Given the description of an element on the screen output the (x, y) to click on. 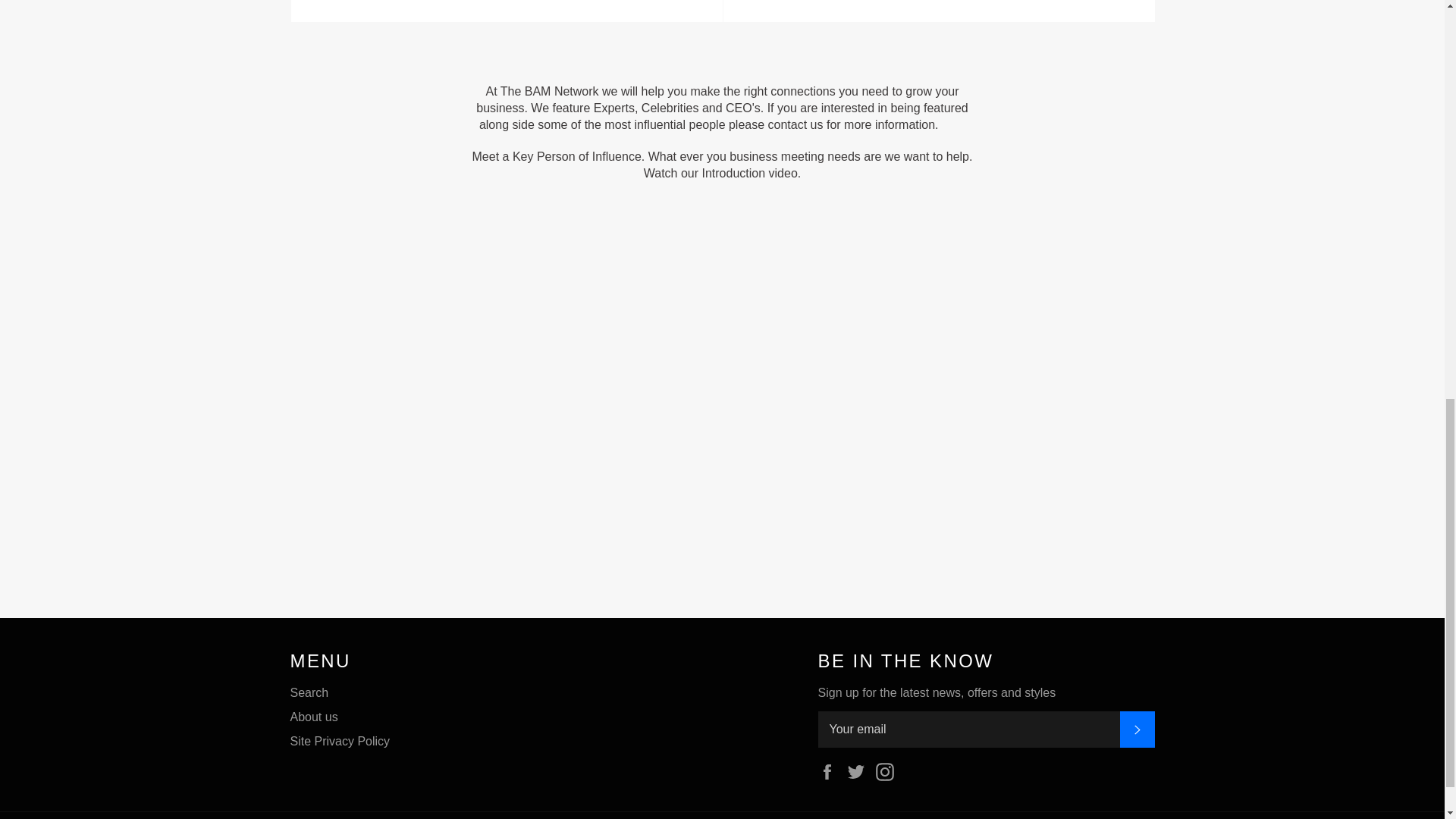
The BAM Network on Instagram (888, 770)
SUBSCRIBE (505, 11)
Search (1136, 729)
The BAM Network on Twitter (309, 692)
The BAM Network on Facebook (859, 770)
Browse our Meet Key Influencers collection (829, 770)
Twitter (938, 11)
About us (859, 770)
Facebook (313, 716)
Instagram (829, 770)
Browse our Buy Business Sales Meetings collection (938, 11)
